Given the description of an element on the screen output the (x, y) to click on. 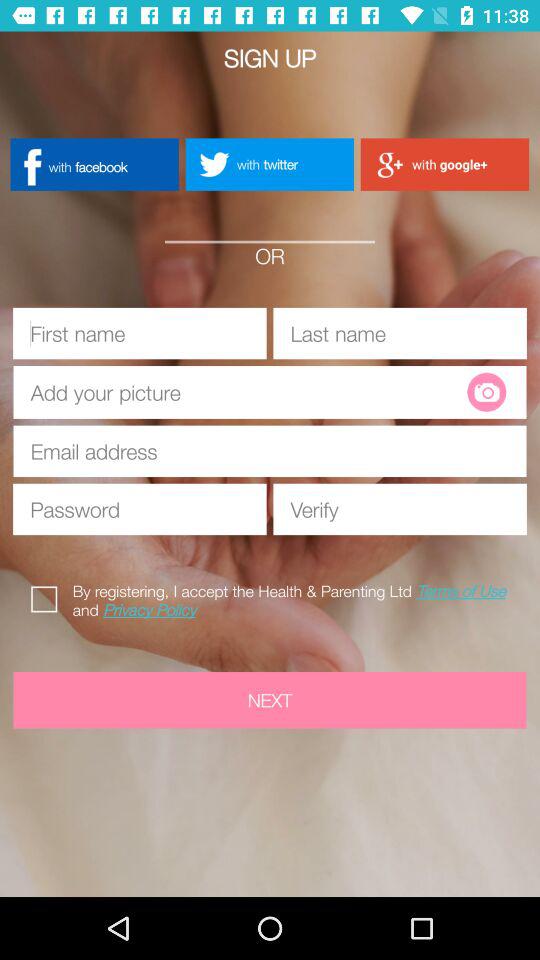
shows empty box (248, 392)
